Given the description of an element on the screen output the (x, y) to click on. 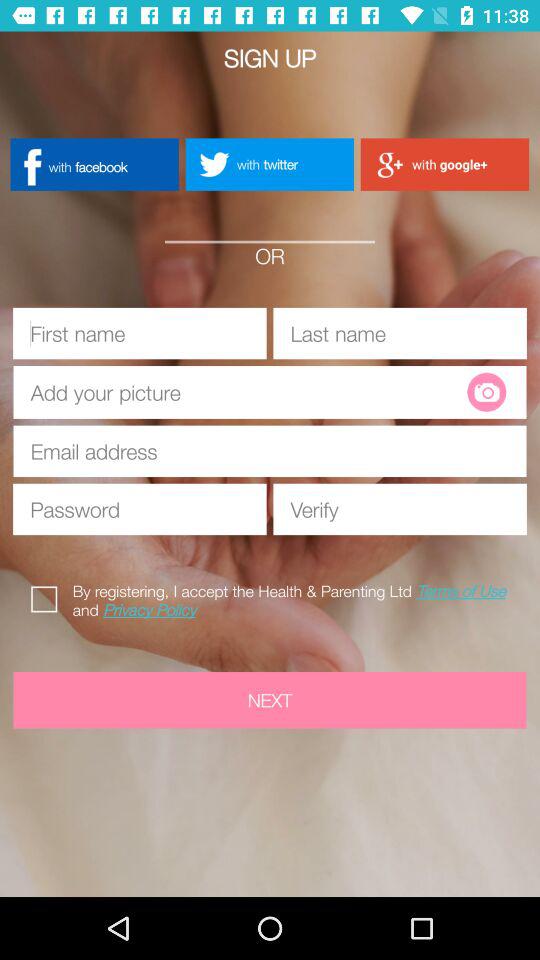
shows empty box (248, 392)
